Given the description of an element on the screen output the (x, y) to click on. 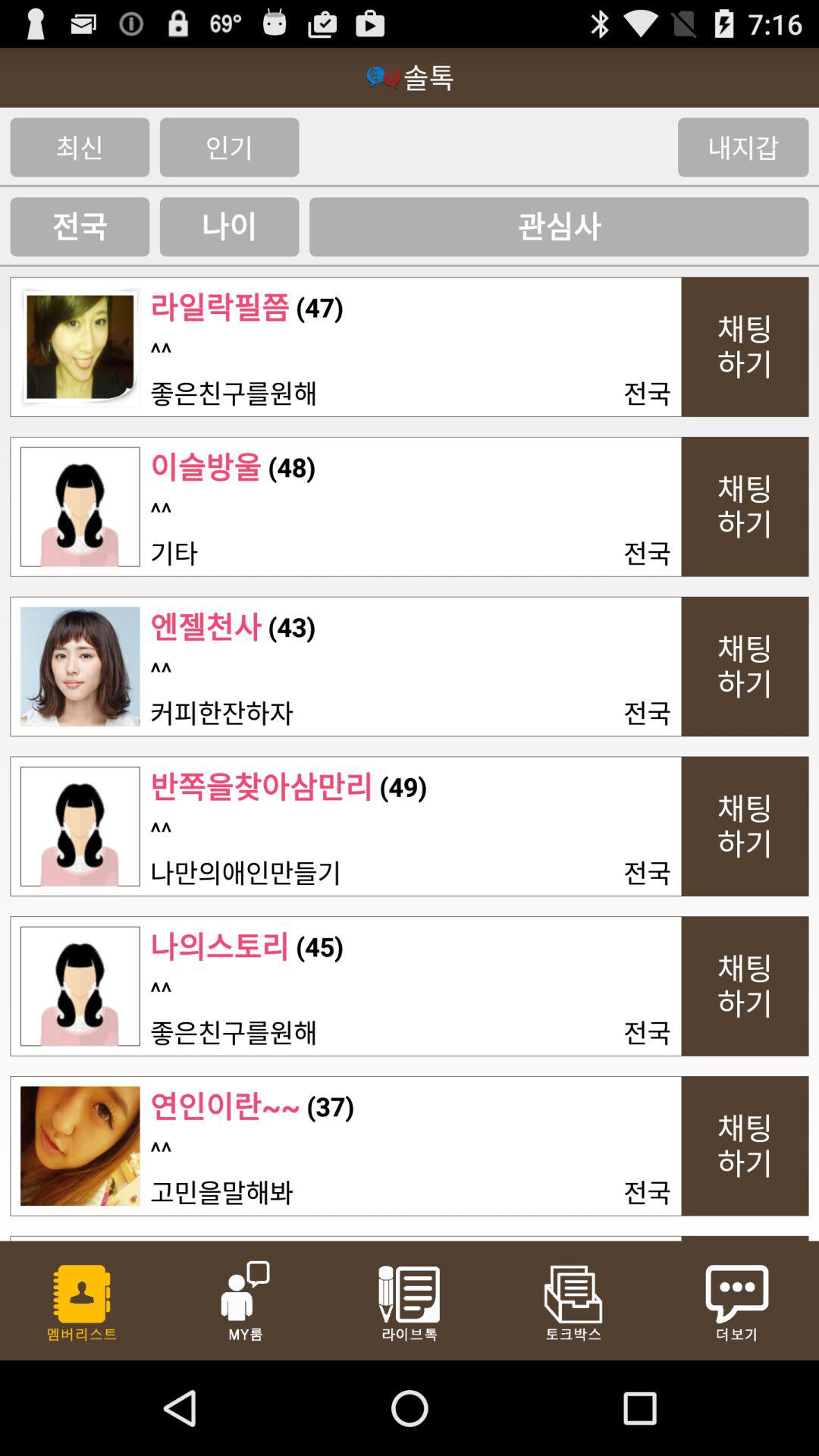
open item next to the  (45) (160, 990)
